Given the description of an element on the screen output the (x, y) to click on. 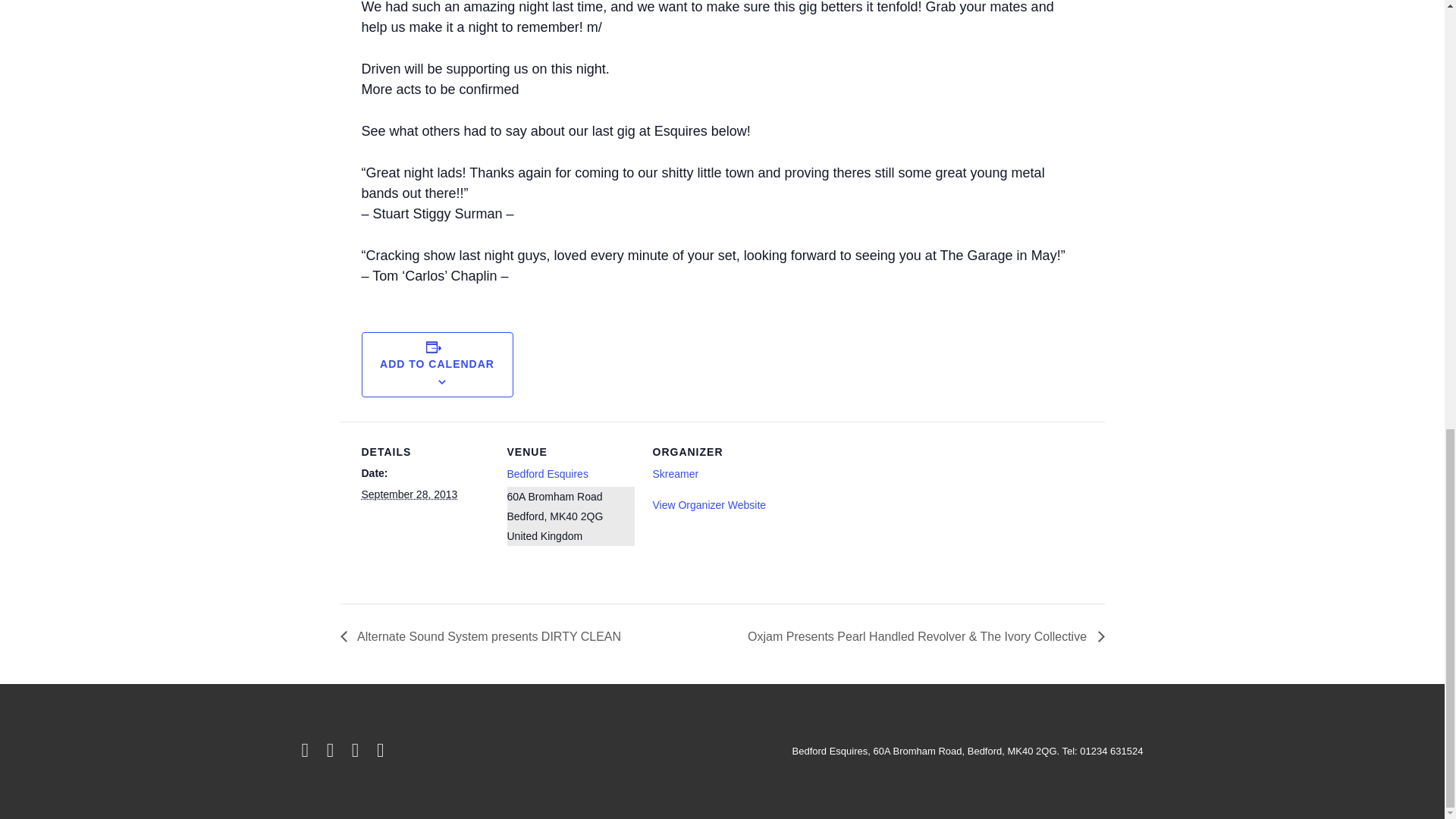
email (382, 753)
Alternate Sound System presents DIRTY CLEAN (483, 635)
instagram (358, 753)
View Organizer Website (708, 504)
Bedford Esquires (547, 473)
ADD TO CALENDAR (437, 363)
facebook (333, 753)
Skreamer (675, 473)
Skreamer (675, 473)
2013-09-28 (409, 494)
